Given the description of an element on the screen output the (x, y) to click on. 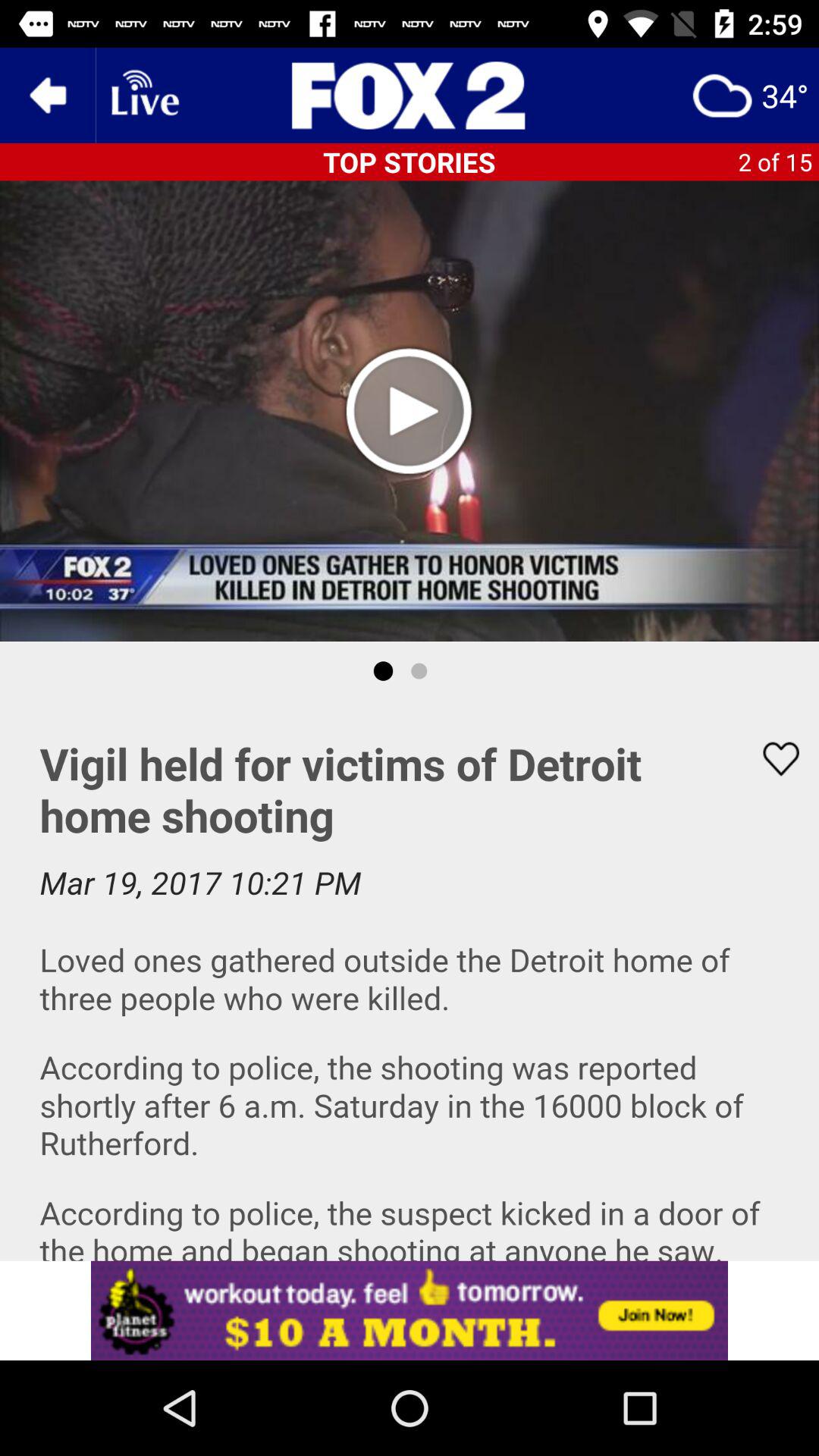
screen display (409, 980)
